Given the description of an element on the screen output the (x, y) to click on. 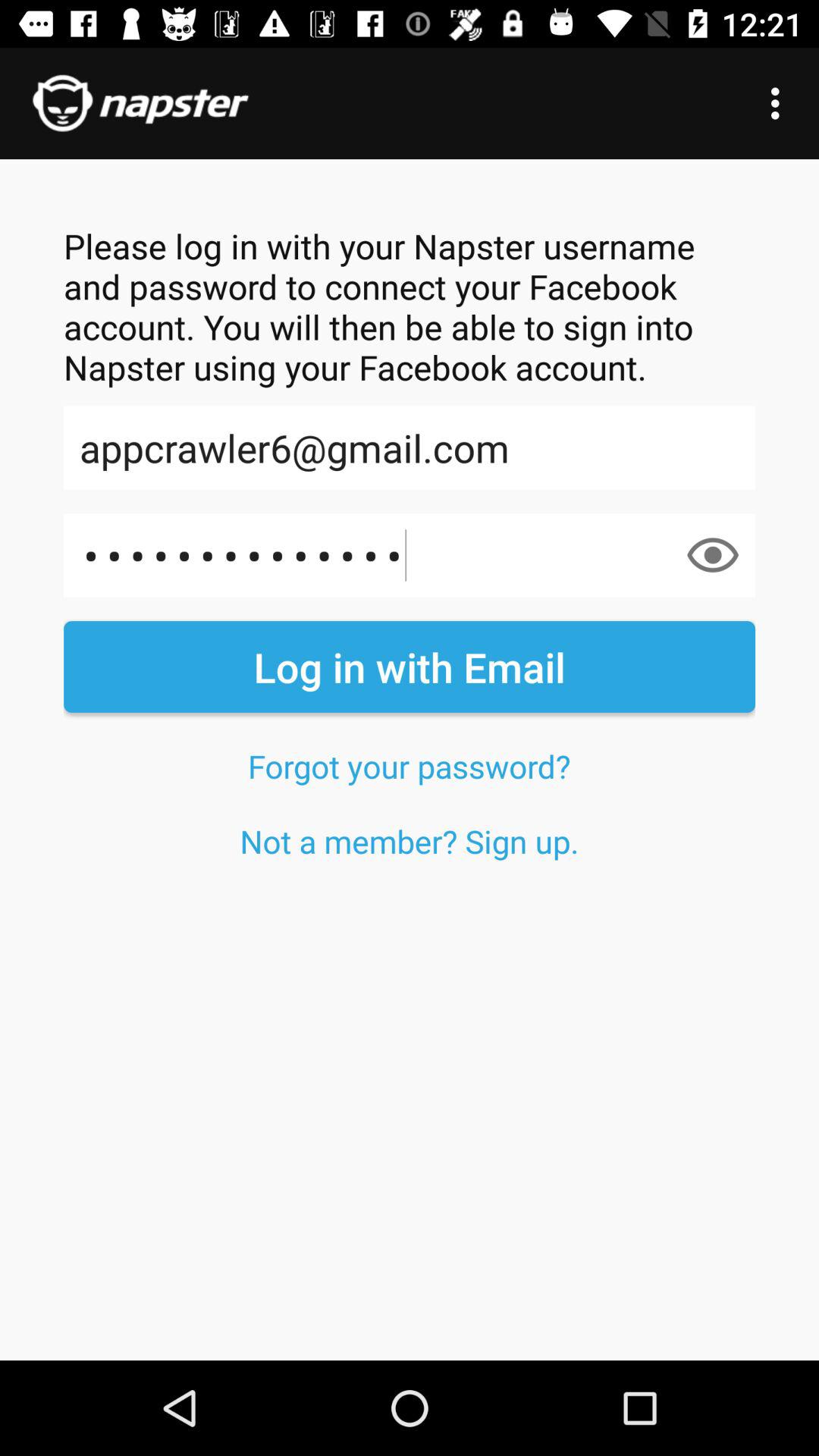
scroll to not a member icon (409, 840)
